Given the description of an element on the screen output the (x, y) to click on. 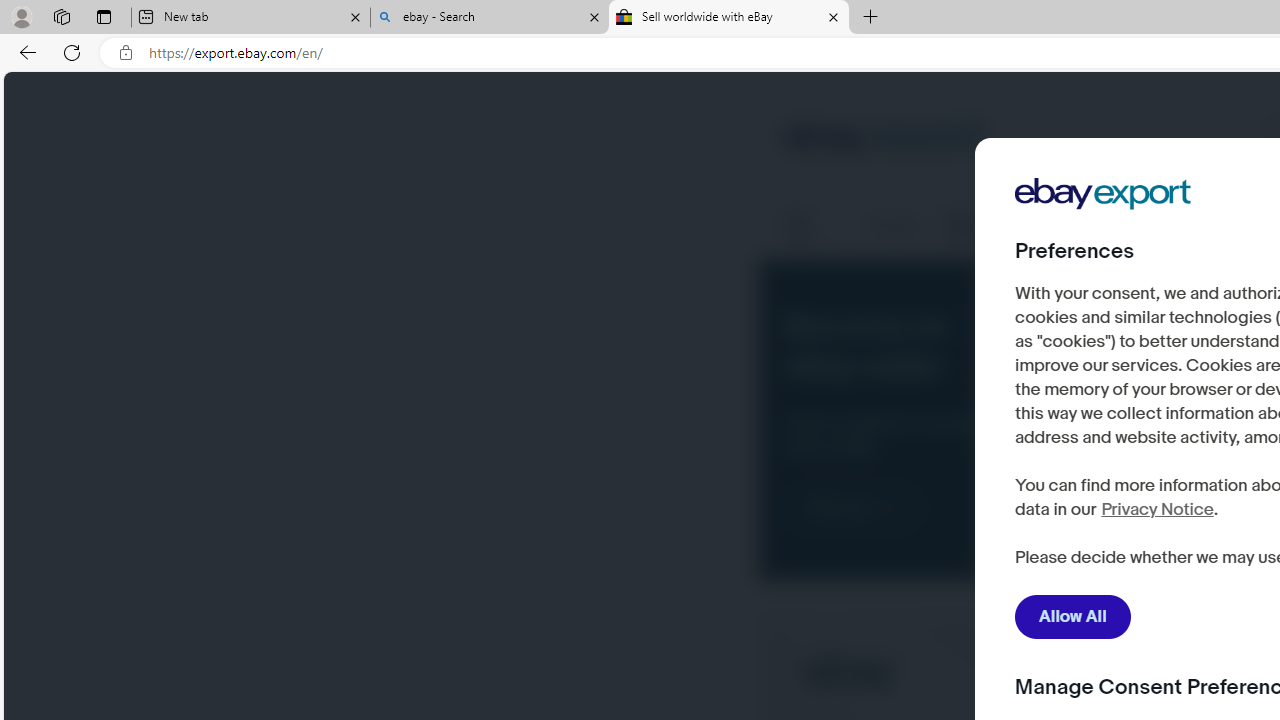
Class: header__logo (883, 139)
Company Logo (1103, 193)
Sell worldwide with eBay (729, 17)
Shipping (893, 226)
Privacy Notice (1156, 510)
